Given the description of an element on the screen output the (x, y) to click on. 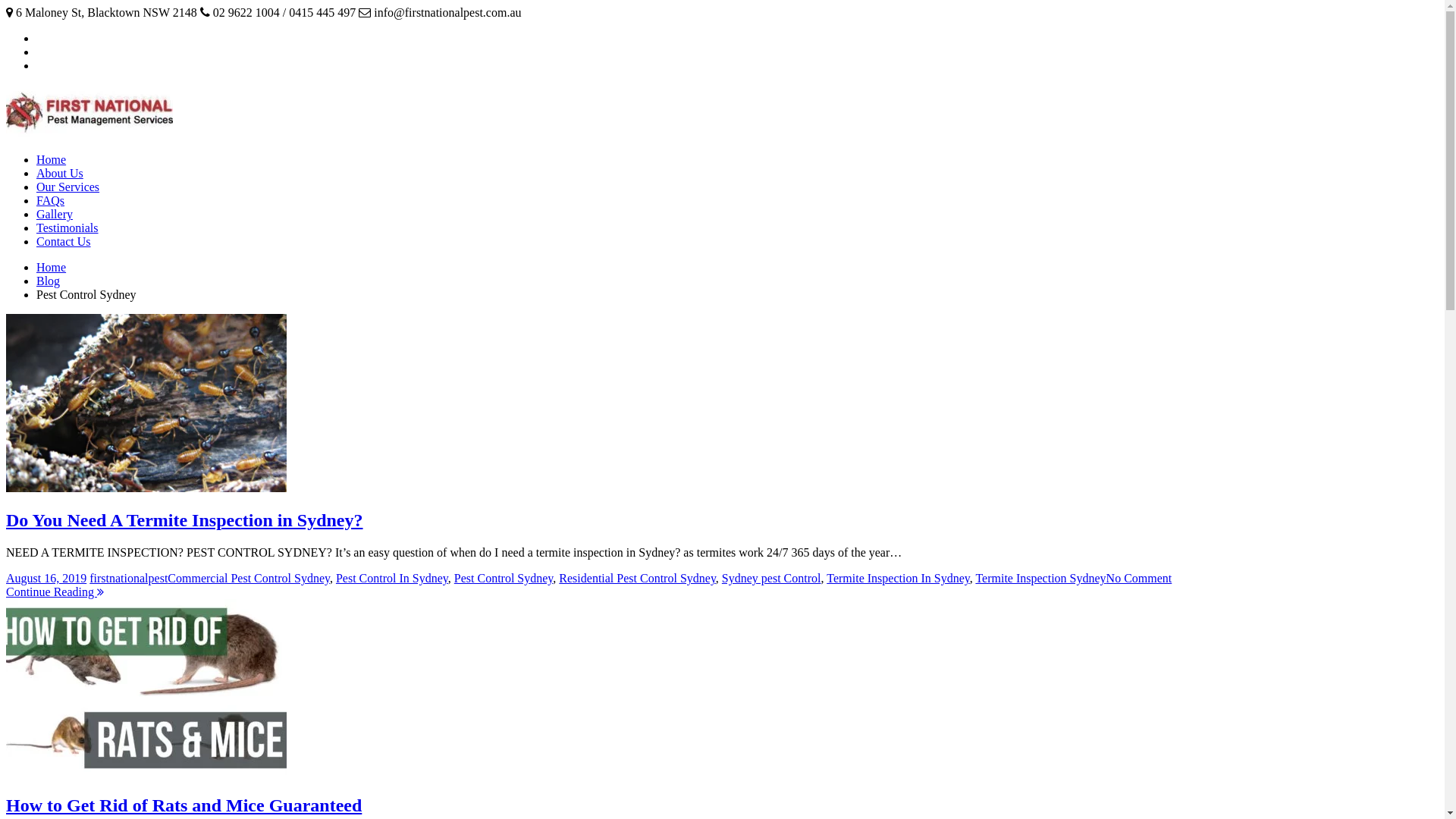
Commercial Pest Control Sydney Element type: text (248, 577)
Gallery Element type: text (54, 213)
Our Services Element type: text (67, 186)
Blog Element type: text (47, 280)
Residential Pest Control Sydney Element type: text (636, 577)
Pest Control In Sydney Element type: text (391, 577)
About Us Element type: text (59, 172)
Home Element type: text (50, 266)
Do You Need A Termite Inspection in Sydney? Element type: text (184, 520)
Continue Reading Element type: text (54, 591)
Pest Control Sydney Element type: text (503, 577)
Sydney pest Control Element type: text (771, 577)
Termite Inspection Sydney Element type: text (1040, 577)
FAQs Element type: text (50, 200)
firstnationalpest Element type: text (128, 577)
Termite Inspection In Sydney Element type: text (897, 577)
How to Get Rid of Rats and Mice Guaranteed Element type: text (183, 805)
Contact Us Element type: text (63, 241)
Testimonials Element type: text (67, 227)
Home Element type: text (50, 159)
August 16, 2019 Element type: text (46, 577)
No Comment
on Do You Need A Termite Inspection in Sydney? Element type: text (1139, 577)
